Given the description of an element on the screen output the (x, y) to click on. 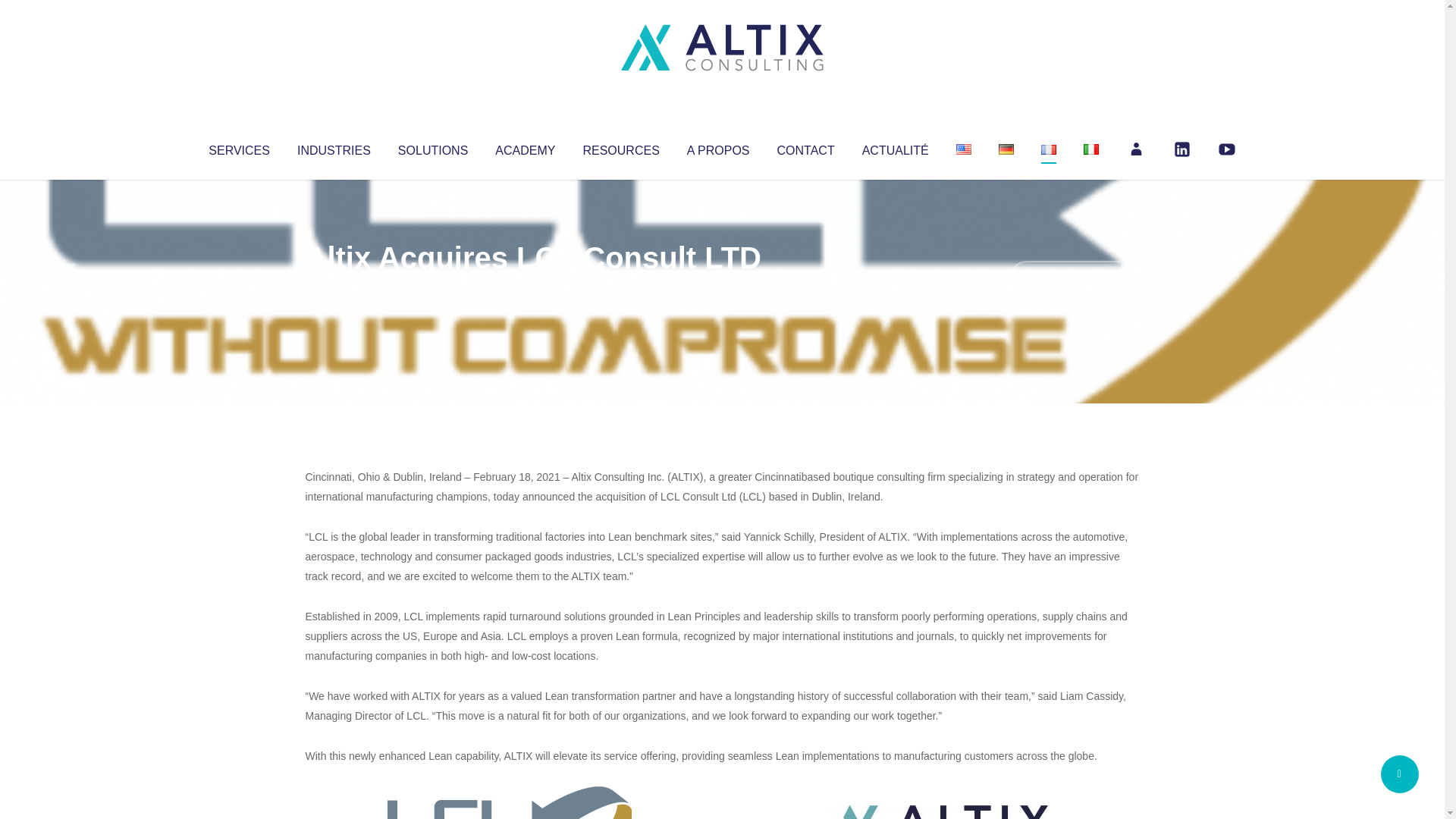
A PROPOS (718, 146)
SOLUTIONS (432, 146)
RESOURCES (620, 146)
Altix (333, 287)
INDUSTRIES (334, 146)
SERVICES (238, 146)
ACADEMY (524, 146)
Articles par Altix (333, 287)
No Comments (1073, 278)
Uncategorized (530, 287)
